Given the description of an element on the screen output the (x, y) to click on. 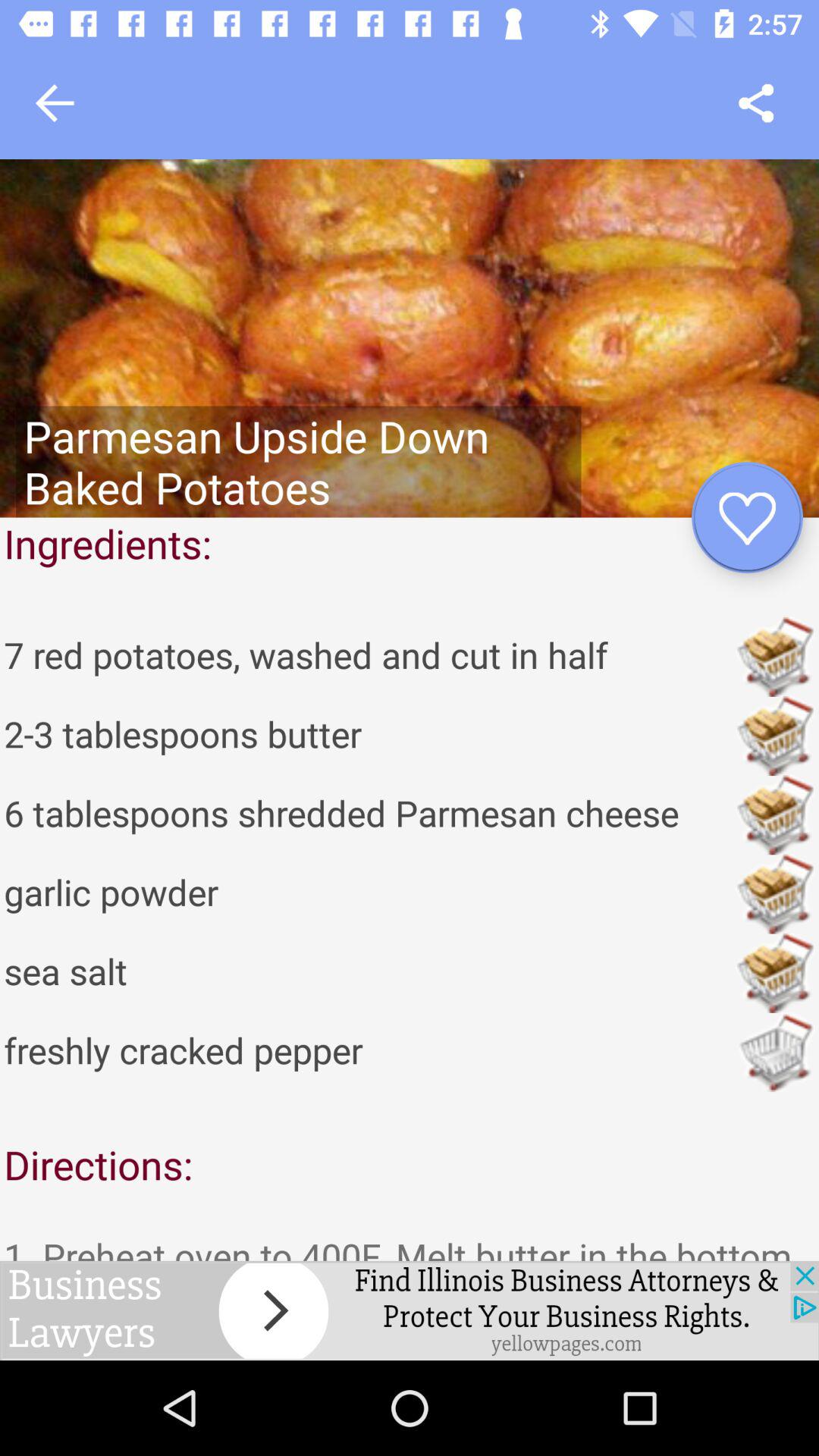
menu page (756, 103)
